Given the description of an element on the screen output the (x, y) to click on. 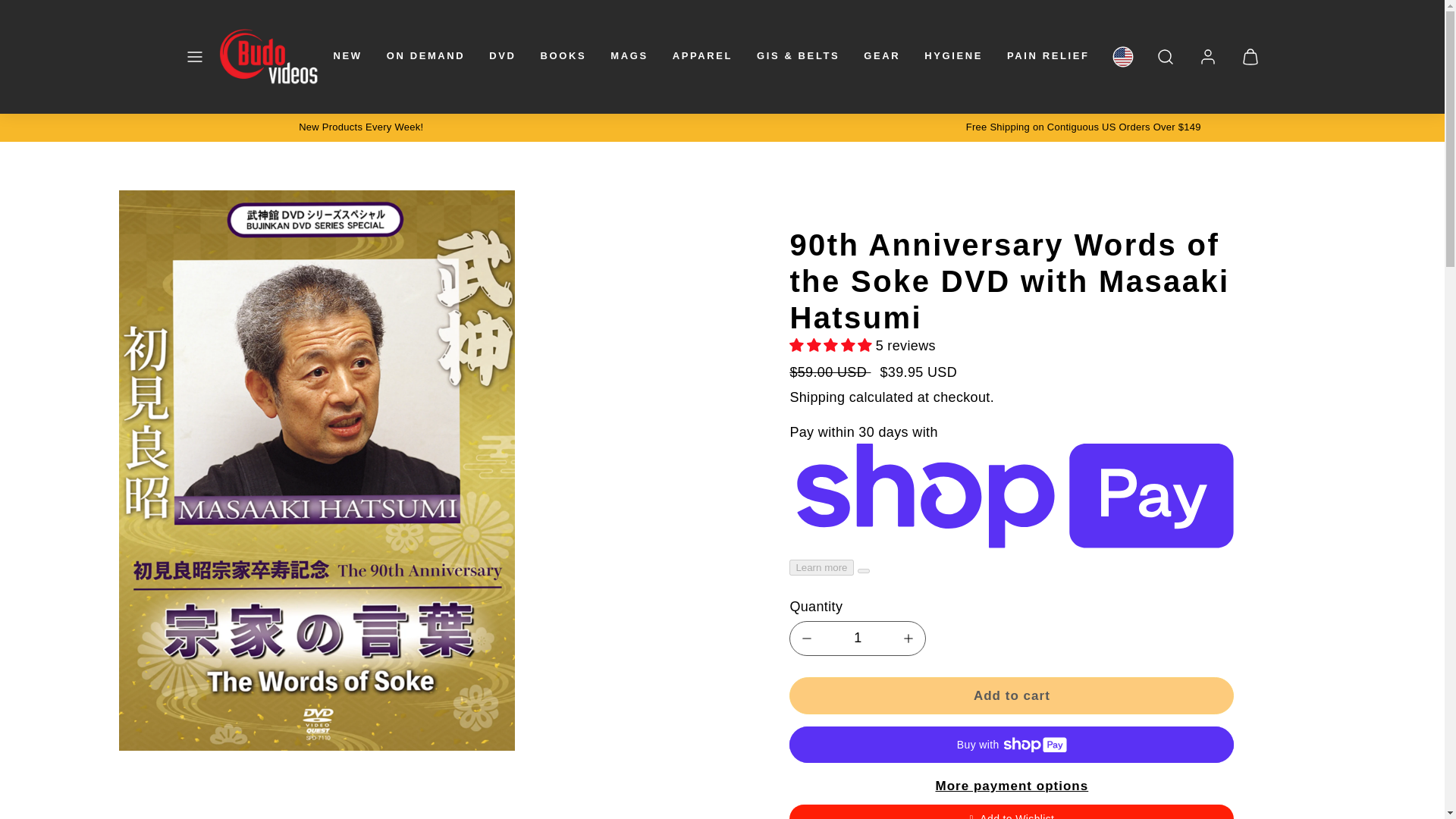
ACCOUNT (1207, 56)
BOOKS (563, 56)
SEARCH (1164, 56)
APPAREL (702, 56)
PAIN RELIEF (1048, 56)
NEW (347, 56)
1 (857, 637)
HYGIENE (953, 56)
MENU (194, 56)
DVD (502, 56)
MAGS (628, 56)
GEAR (881, 56)
ON DEMAND (425, 56)
